Given the description of an element on the screen output the (x, y) to click on. 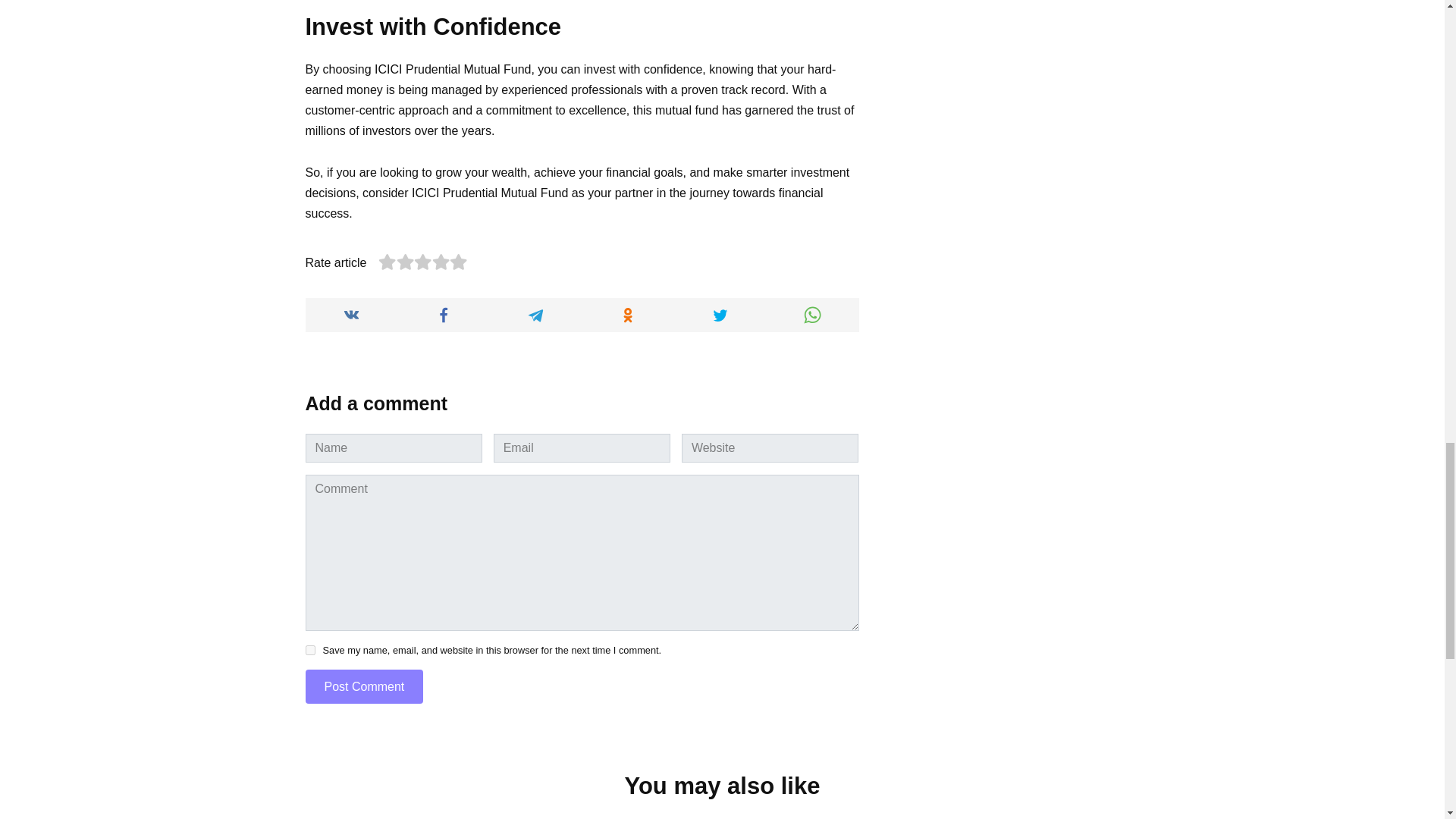
Post Comment (363, 686)
yes (309, 650)
Post Comment (363, 686)
